Given the description of an element on the screen output the (x, y) to click on. 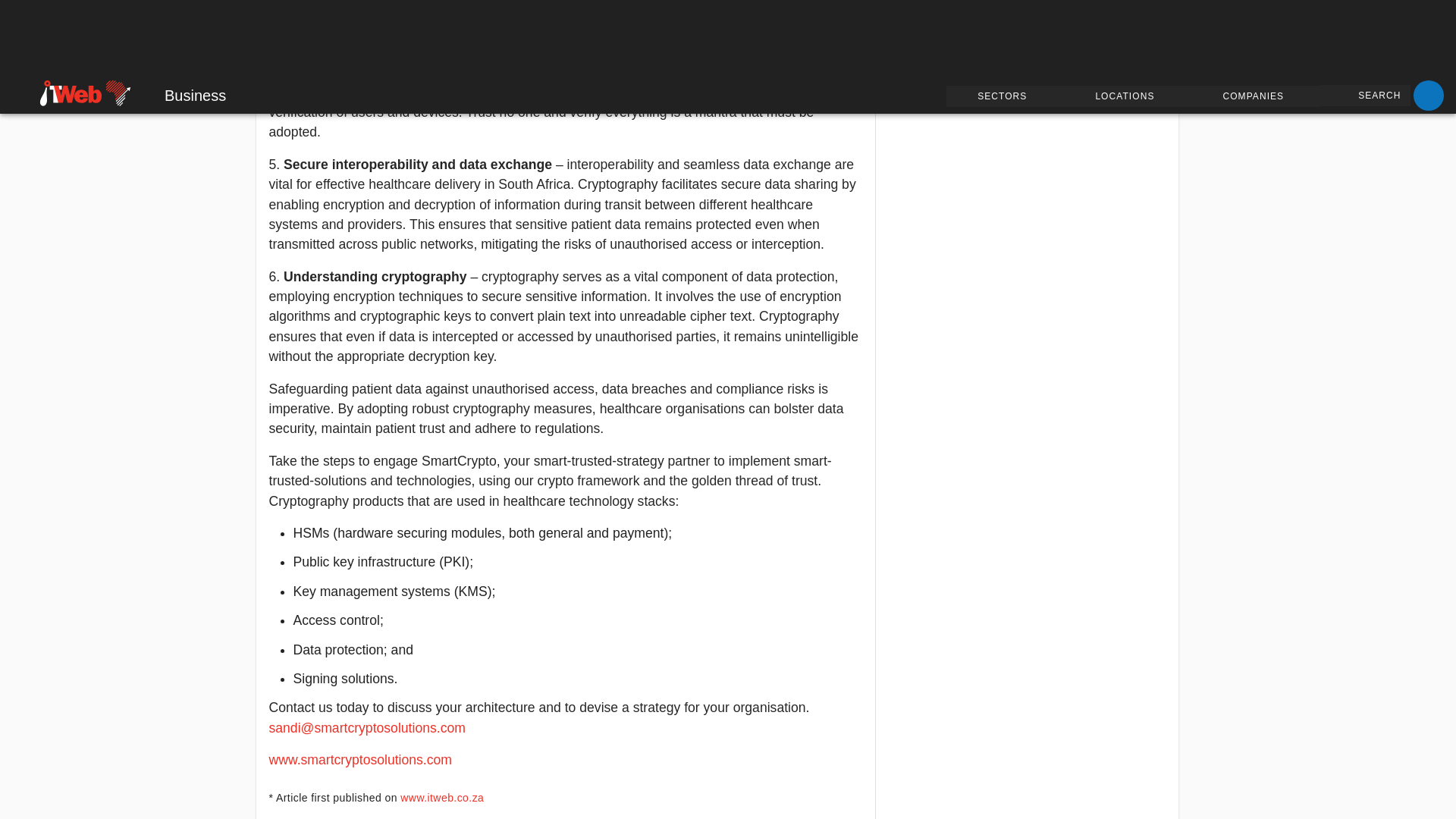
www.itweb.co.za (441, 797)
www.smartcryptosolutions.com (359, 759)
